Given the description of an element on the screen output the (x, y) to click on. 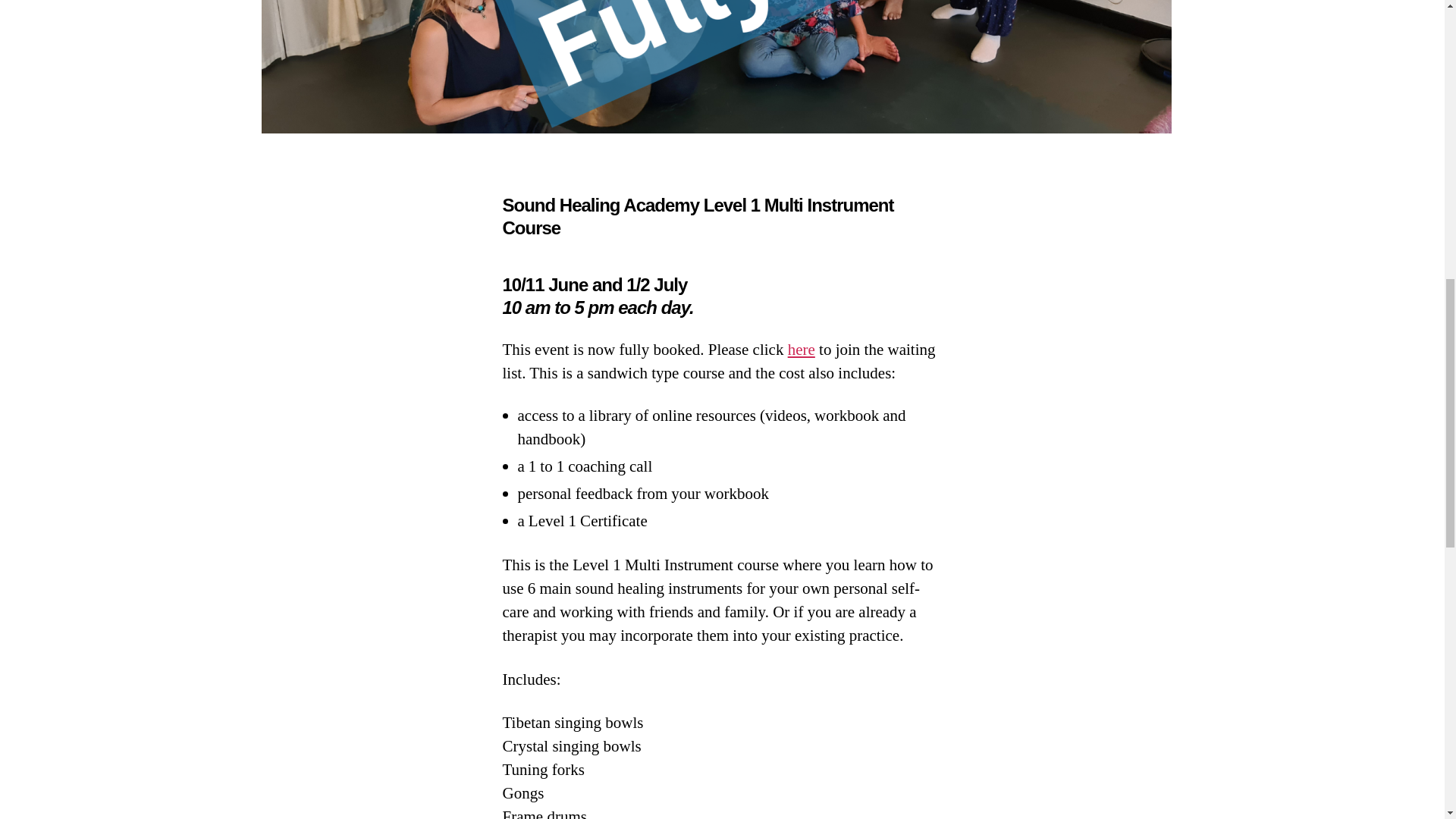
here (801, 349)
